Given the description of an element on the screen output the (x, y) to click on. 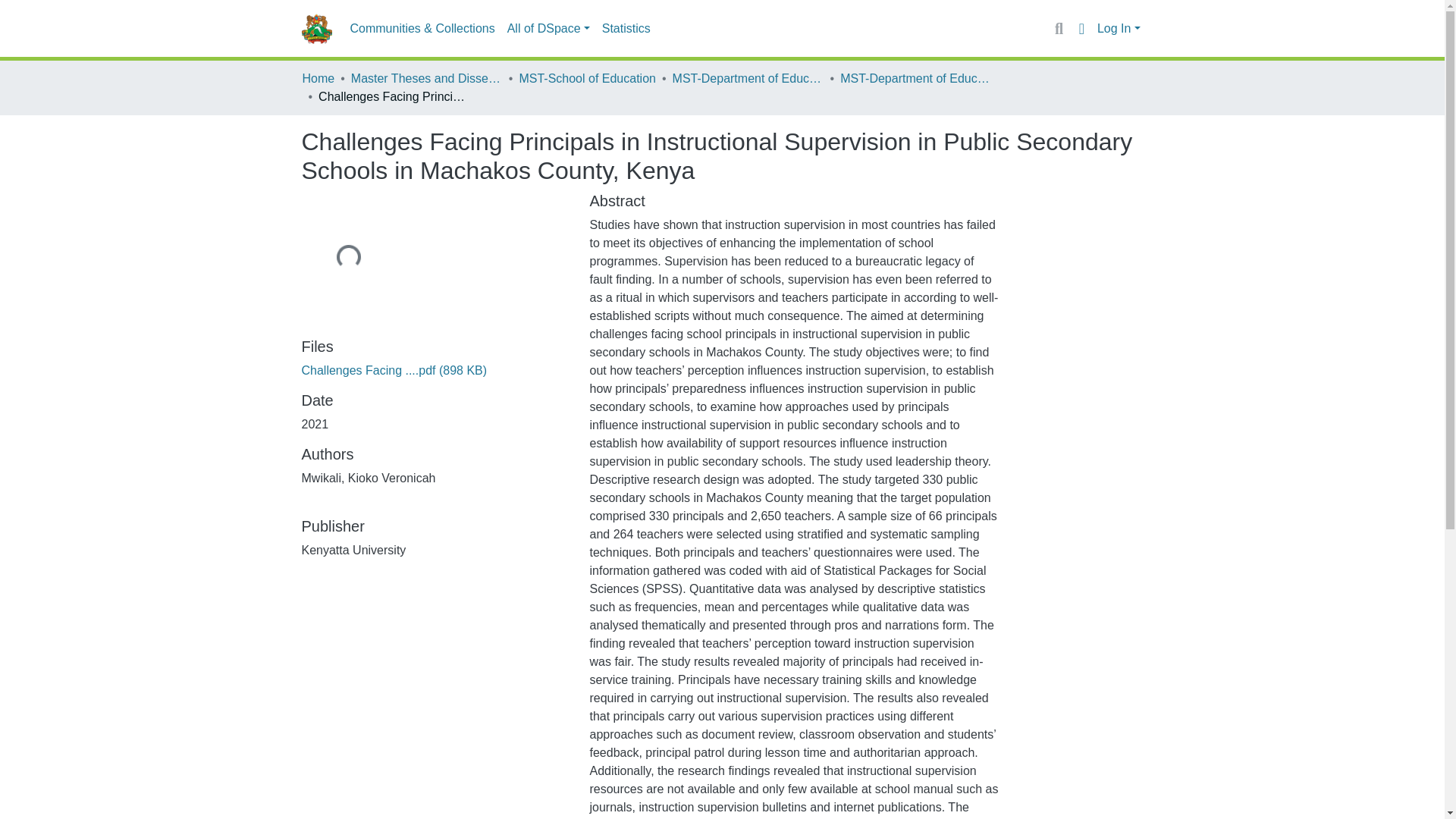
Search (1058, 28)
Log In (1118, 28)
All of DSpace (547, 28)
Statistics (625, 28)
Statistics (625, 28)
Language switch (1081, 28)
Home (317, 78)
MST-School of Education (587, 78)
